Given the description of an element on the screen output the (x, y) to click on. 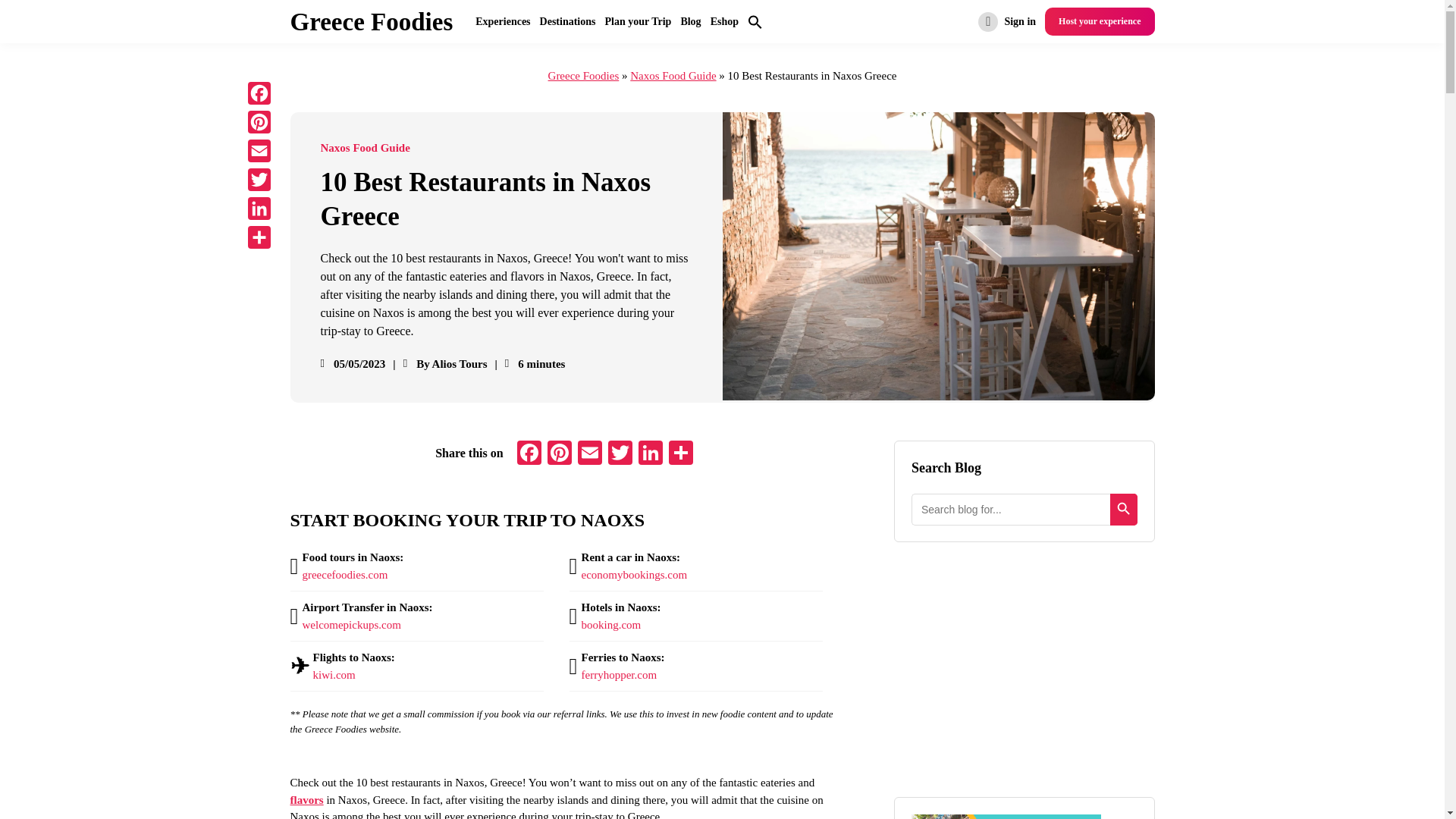
Experiences (502, 21)
Twitter (619, 454)
Host your experience (1099, 21)
Naxos Food Guide (364, 147)
welcomepickups.com (350, 624)
economybookings.com (633, 574)
Greece Foodies (370, 21)
Greece Foodies (584, 75)
flavors (306, 799)
Pinterest (559, 454)
LinkedIn (649, 454)
Naxos Food Guide (673, 75)
ferryhopper.com (619, 674)
Blog (689, 21)
Destinations (567, 21)
